Given the description of an element on the screen output the (x, y) to click on. 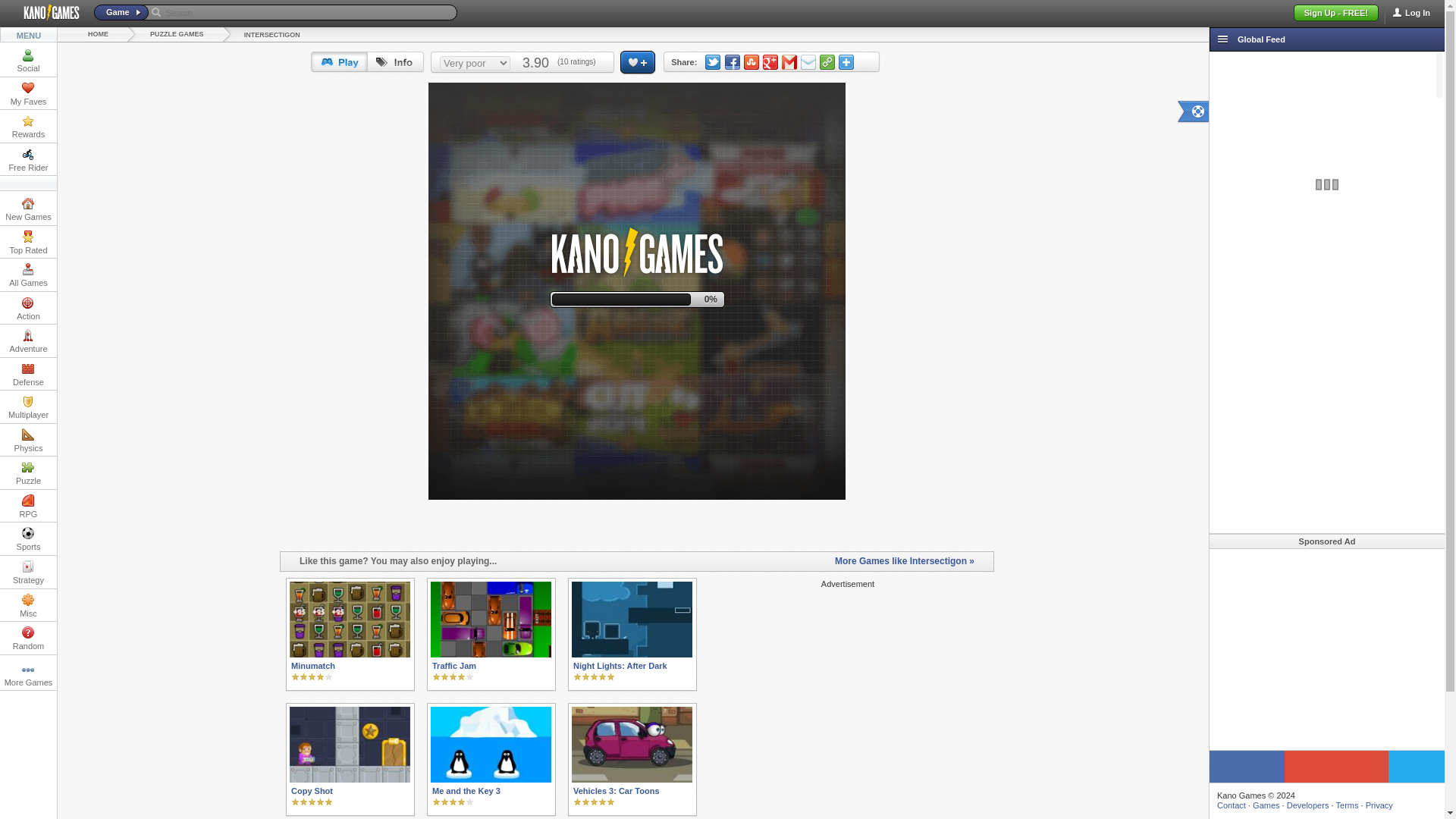
Rewards (28, 125)
Adventure (28, 340)
Physics (28, 440)
New Games (28, 208)
Free Rider (28, 159)
Multiplayer (28, 406)
Action (28, 307)
My Faves (28, 92)
All Games (28, 274)
Misc (28, 604)
